Given the description of an element on the screen output the (x, y) to click on. 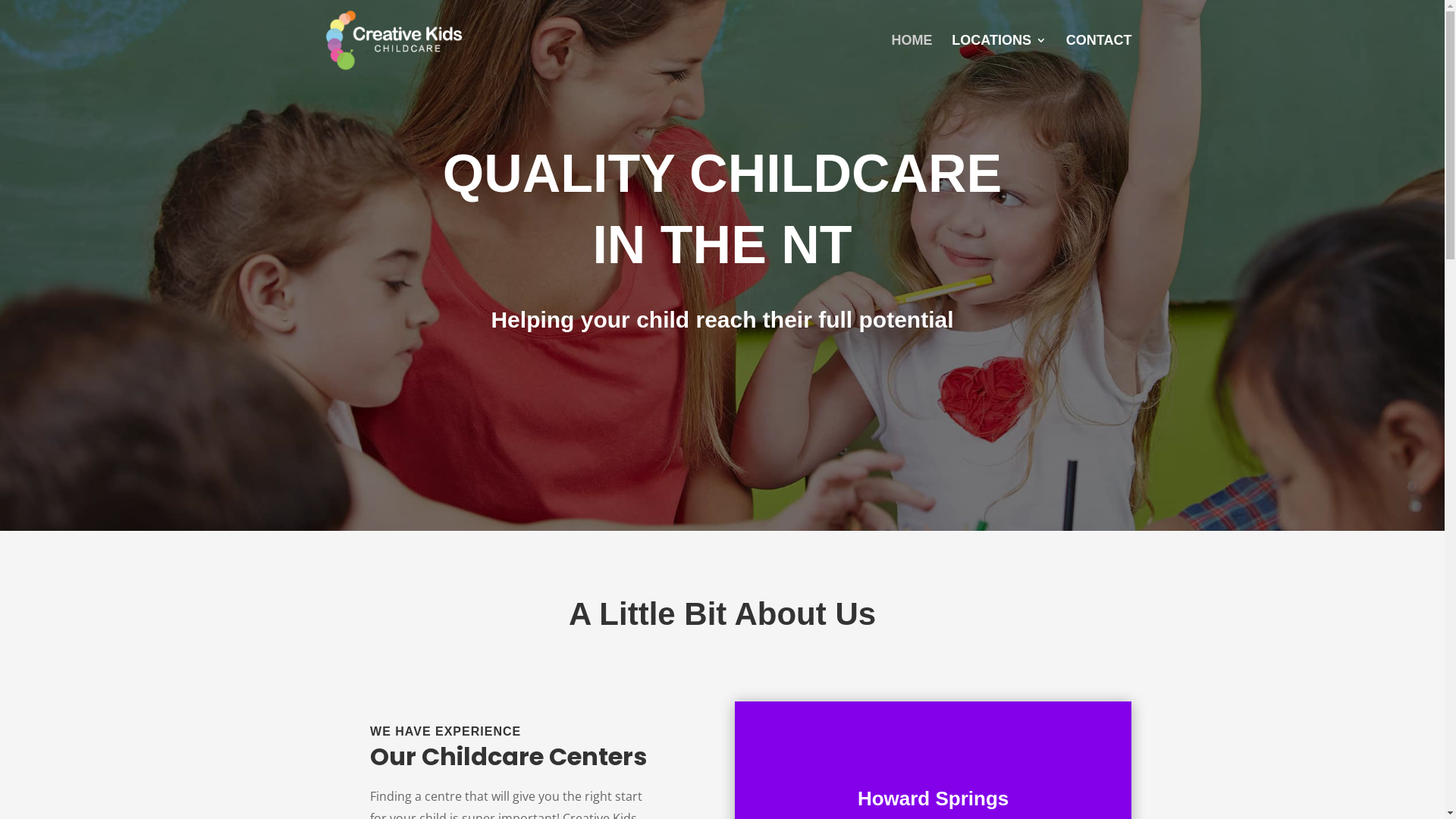
CONTACT Element type: text (1099, 57)
LOCATIONS Element type: text (998, 57)
HOME Element type: text (911, 57)
